Given the description of an element on the screen output the (x, y) to click on. 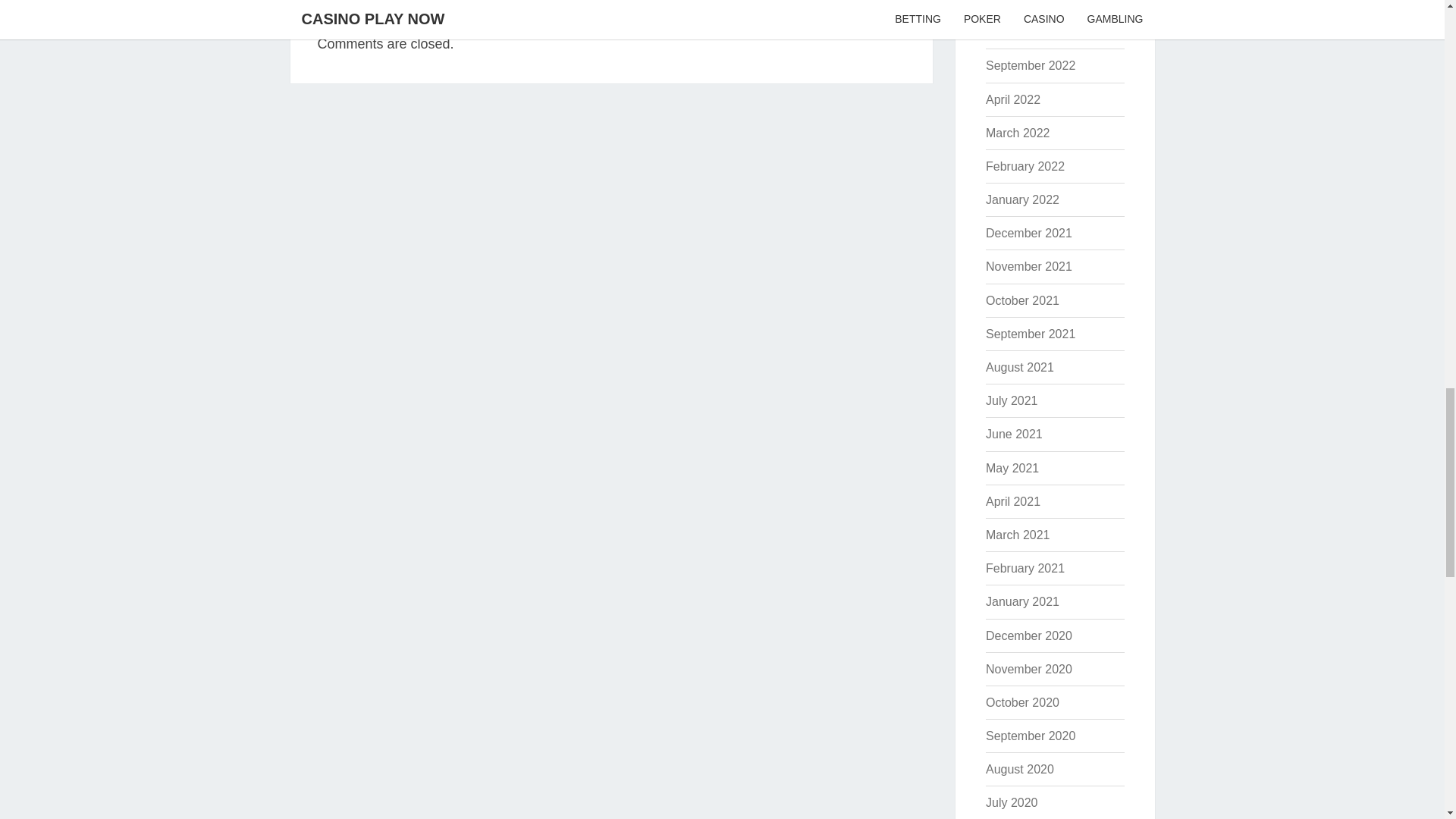
October 2022 (1022, 31)
December 2022 (1028, 2)
April 2022 (1013, 99)
March 2022 (1017, 132)
February 2022 (1024, 165)
September 2022 (1030, 65)
